Given the description of an element on the screen output the (x, y) to click on. 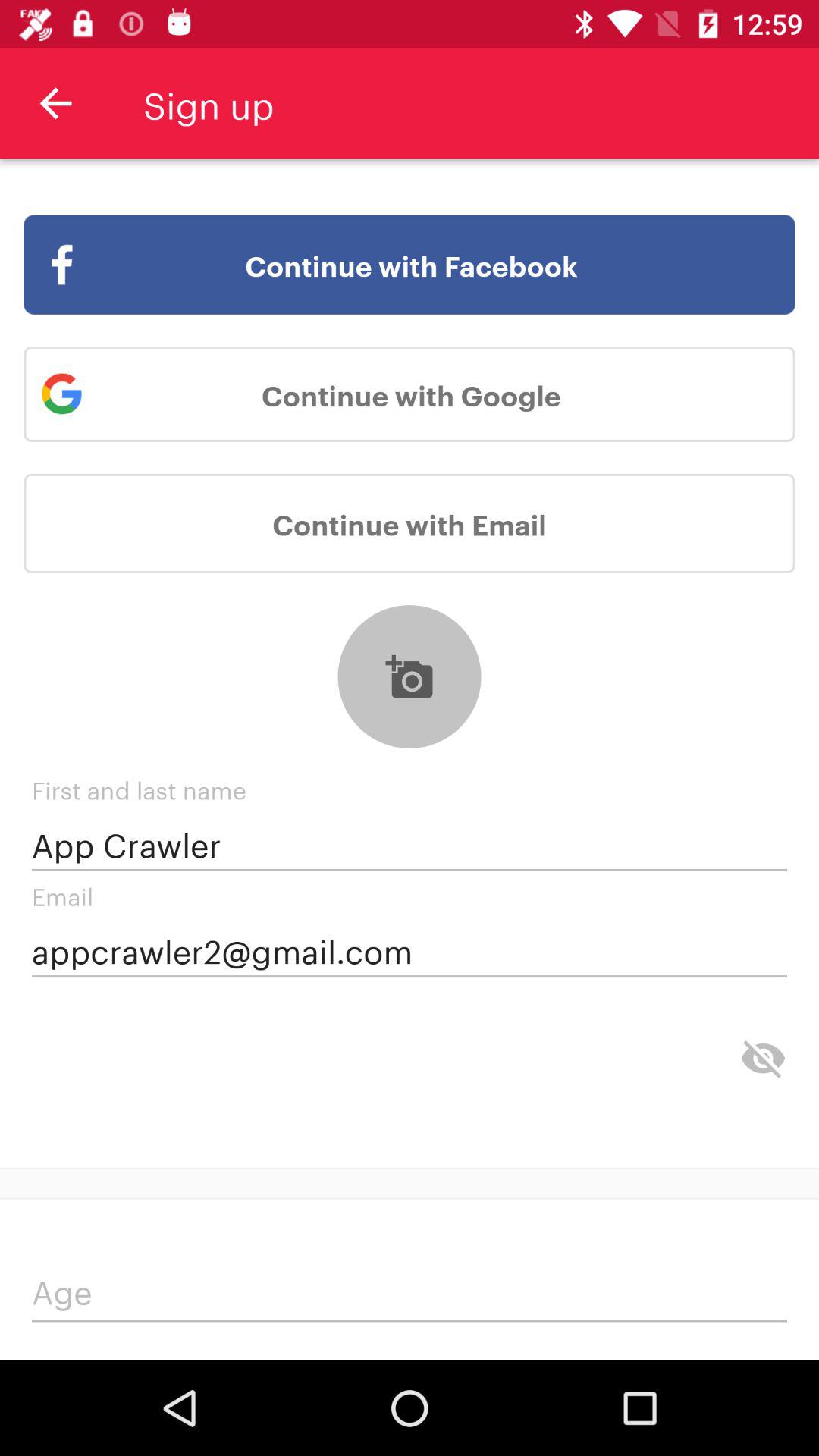
click on the first text box (409, 844)
click on the text field below email (409, 950)
click on the image above the text first and last name (409, 676)
click on the show icon (763, 1058)
